Given the description of an element on the screen output the (x, y) to click on. 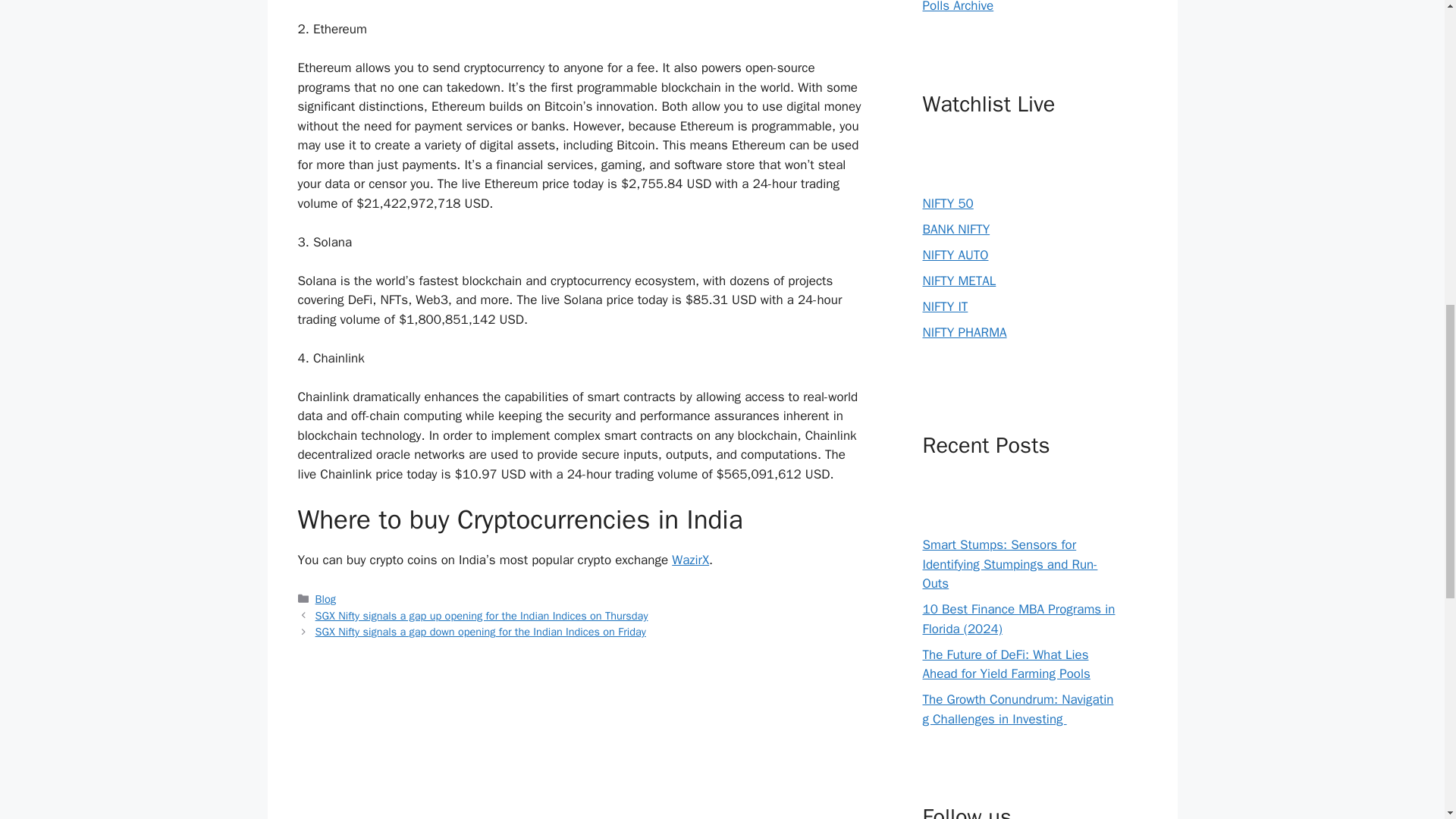
Blog (325, 599)
WazirX (690, 560)
